Given the description of an element on the screen output the (x, y) to click on. 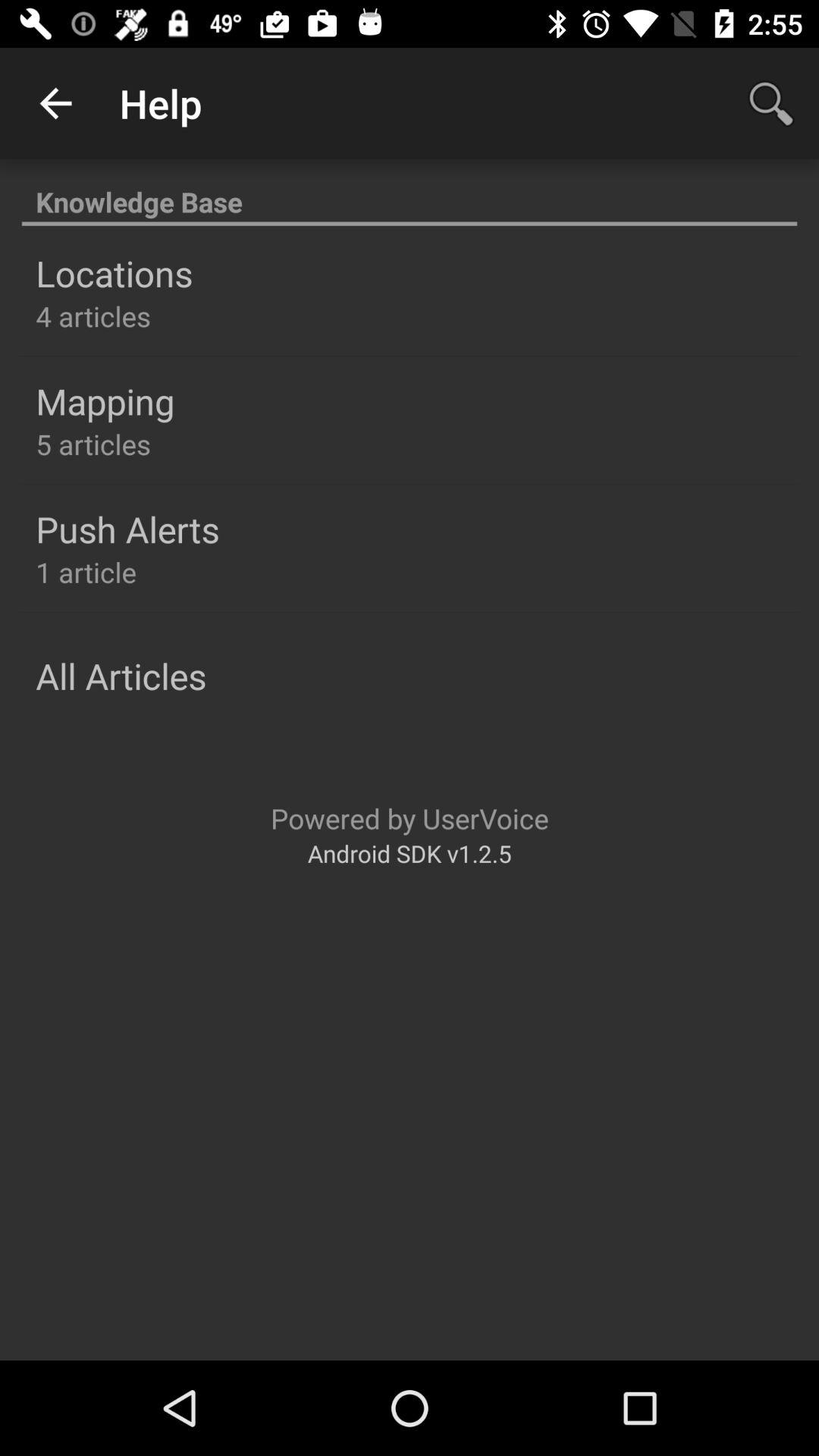
select icon next to the help item (771, 103)
